Given the description of an element on the screen output the (x, y) to click on. 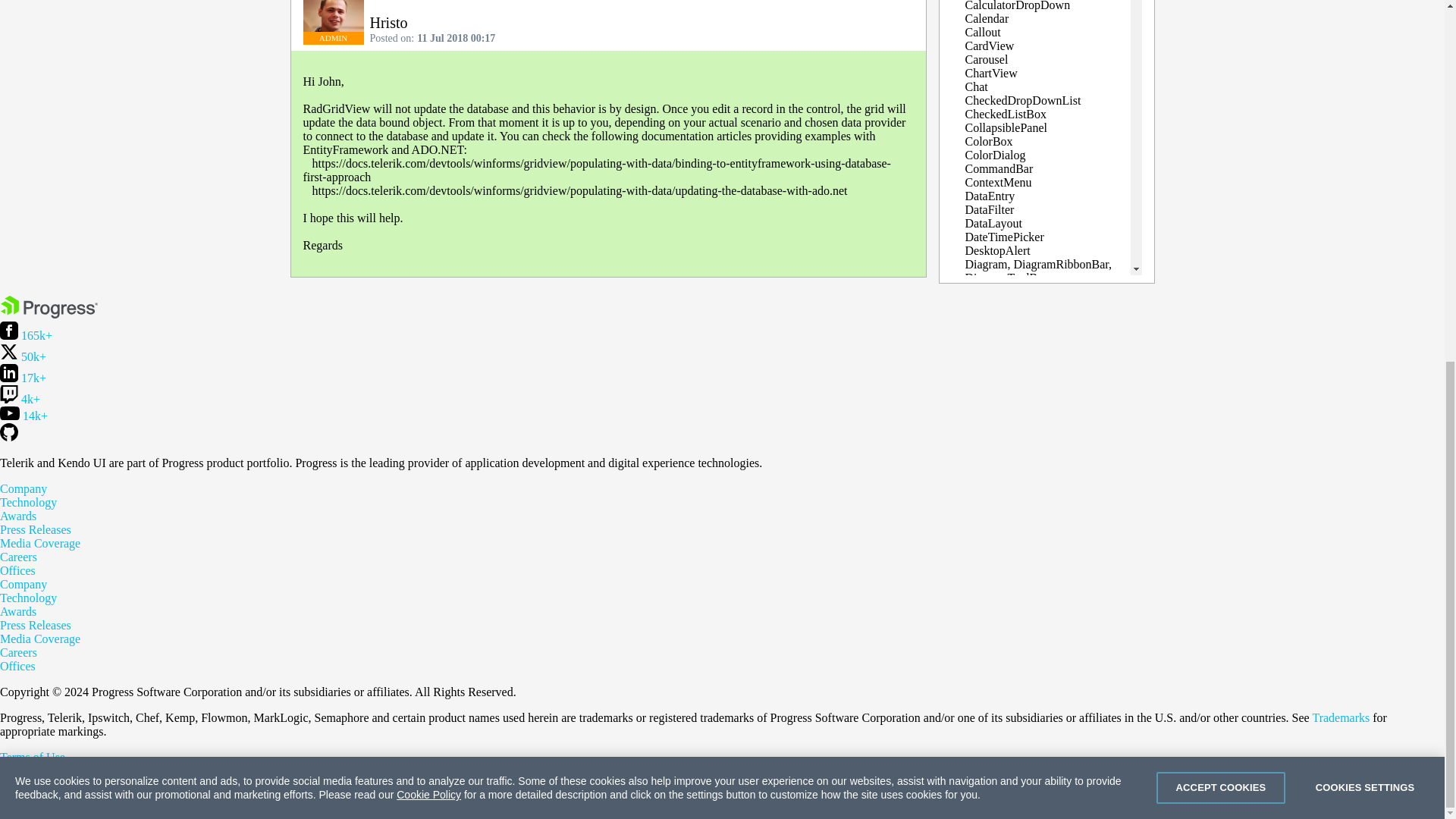
Twitch (20, 399)
GitHub (8, 436)
YouTube (24, 415)
LinkedIn (23, 377)
Facebook (26, 335)
X (23, 356)
